Given the description of an element on the screen output the (x, y) to click on. 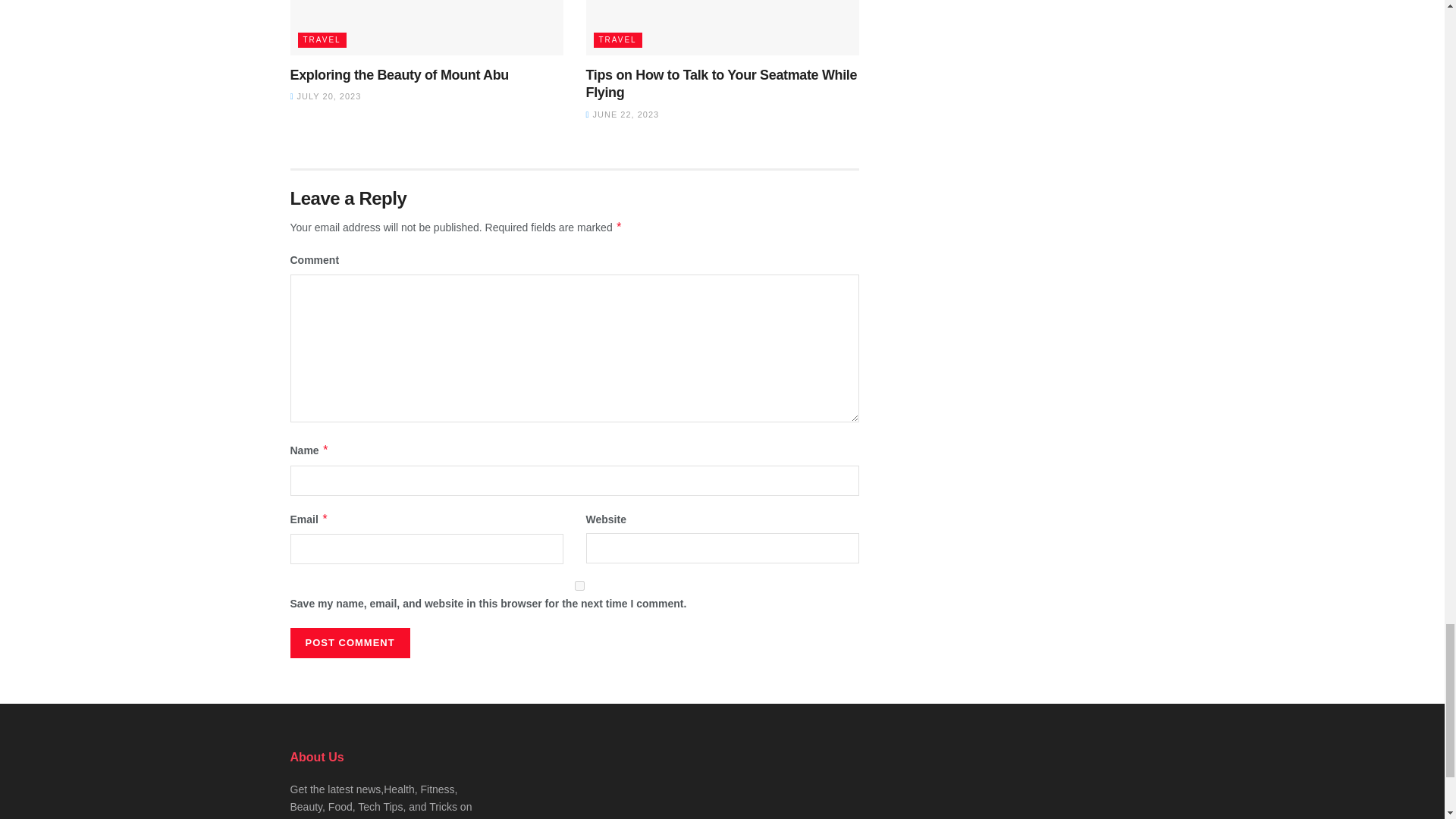
yes (580, 585)
Post Comment (349, 643)
